Given the description of an element on the screen output the (x, y) to click on. 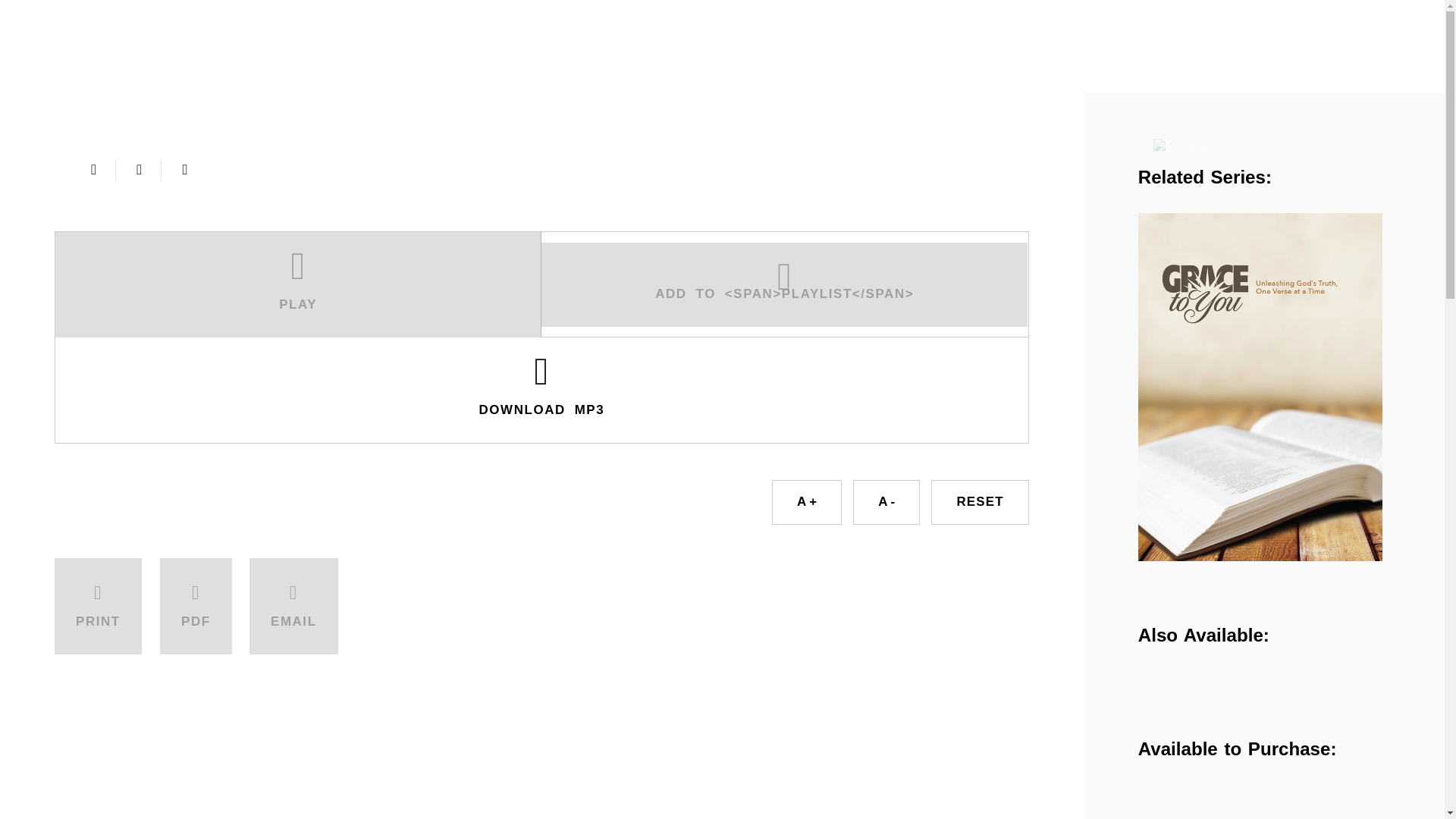
Grace-to-You (96, 32)
DONATE (930, 76)
APPS (519, 76)
Grace to You (1201, 145)
BLOG (594, 76)
STORE (417, 76)
BROADCASTS (193, 76)
LISTEN NOW (474, 29)
RESOURCES (318, 76)
800-55-GRACE (1240, 28)
